Given the description of an element on the screen output the (x, y) to click on. 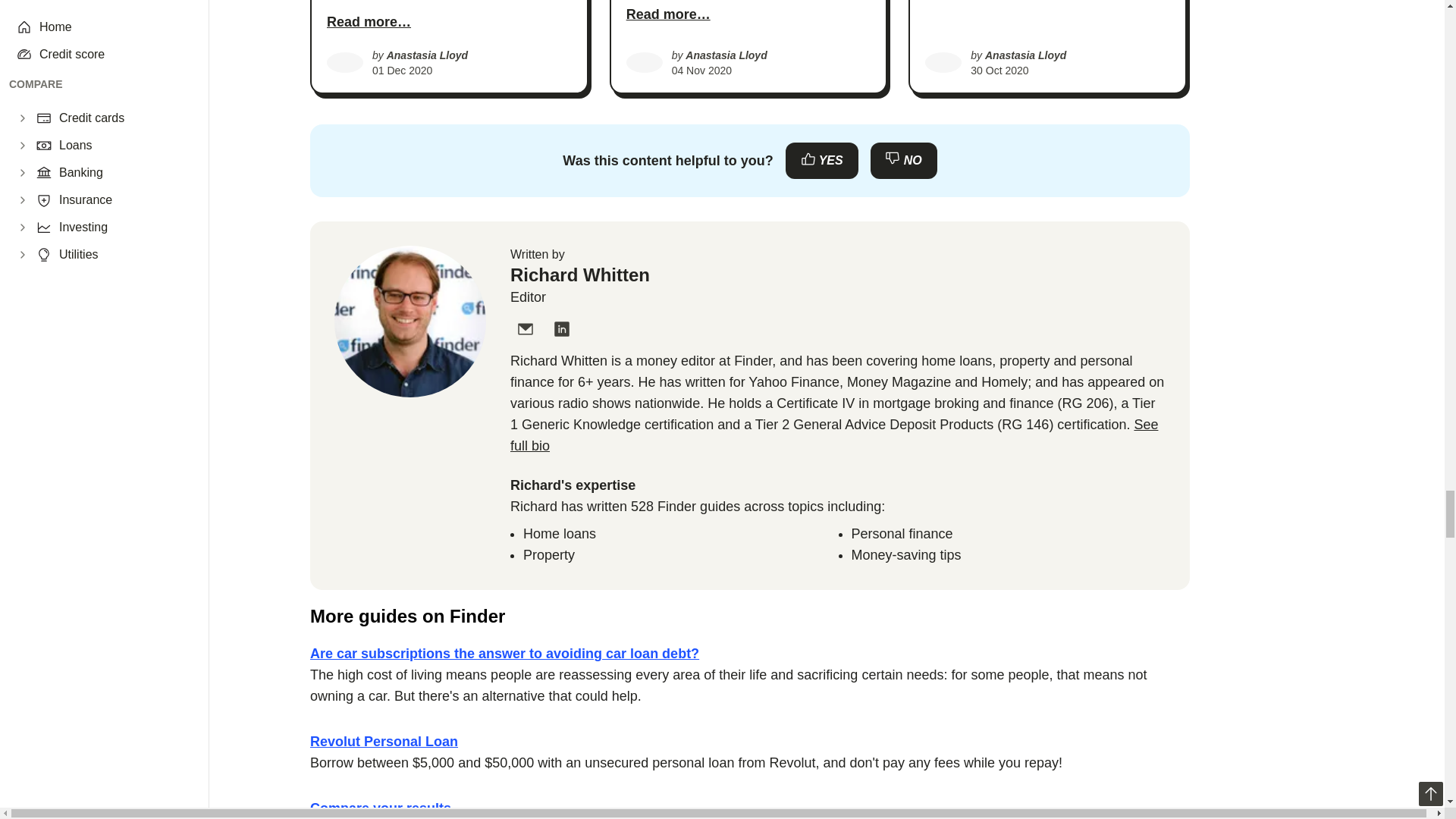
04 Nov 2020 (701, 70)
01 Dec 2020 (402, 70)
30 Oct 2020 (999, 70)
